Given the description of an element on the screen output the (x, y) to click on. 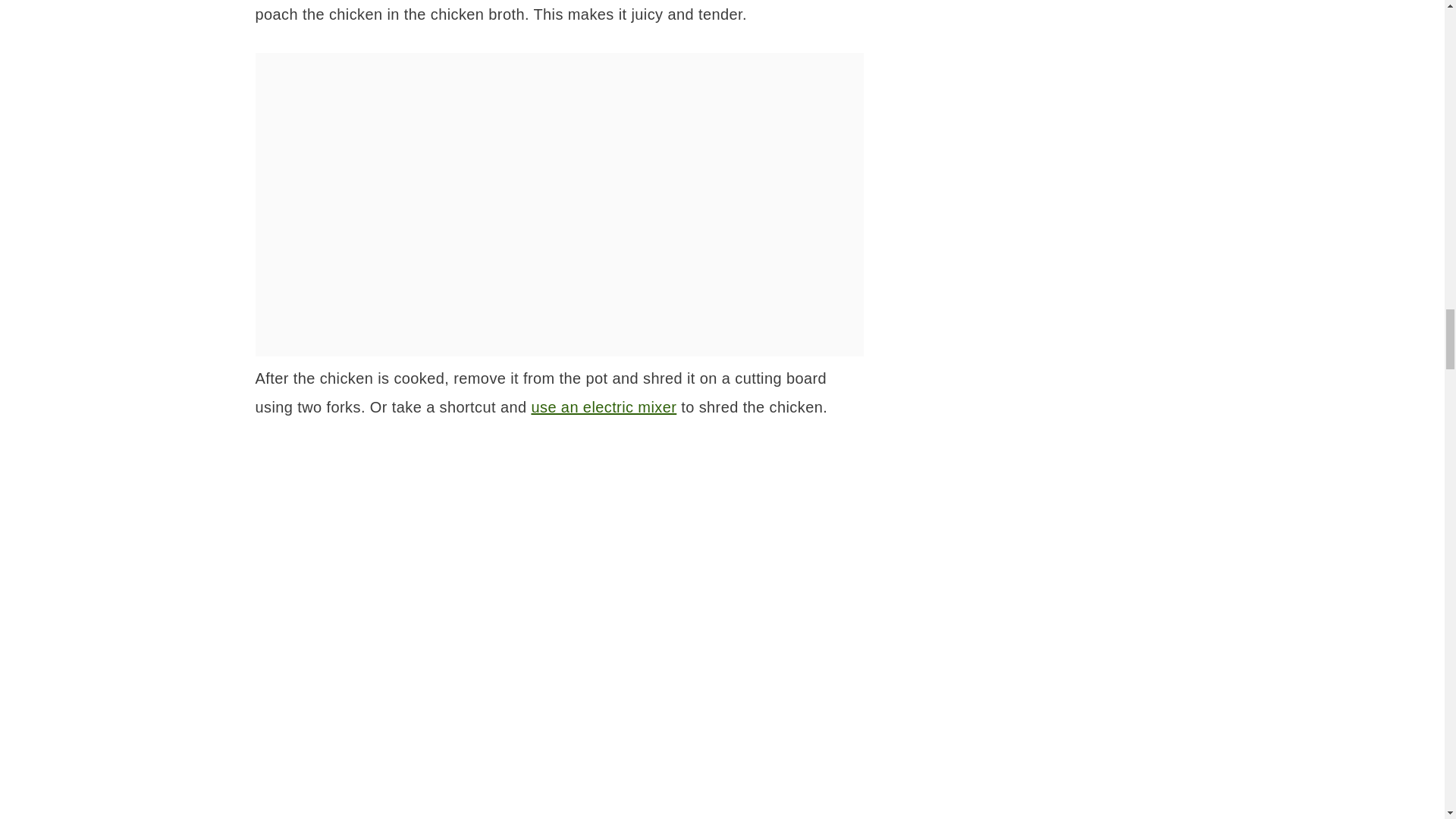
use an electric mixer (604, 406)
